Given the description of an element on the screen output the (x, y) to click on. 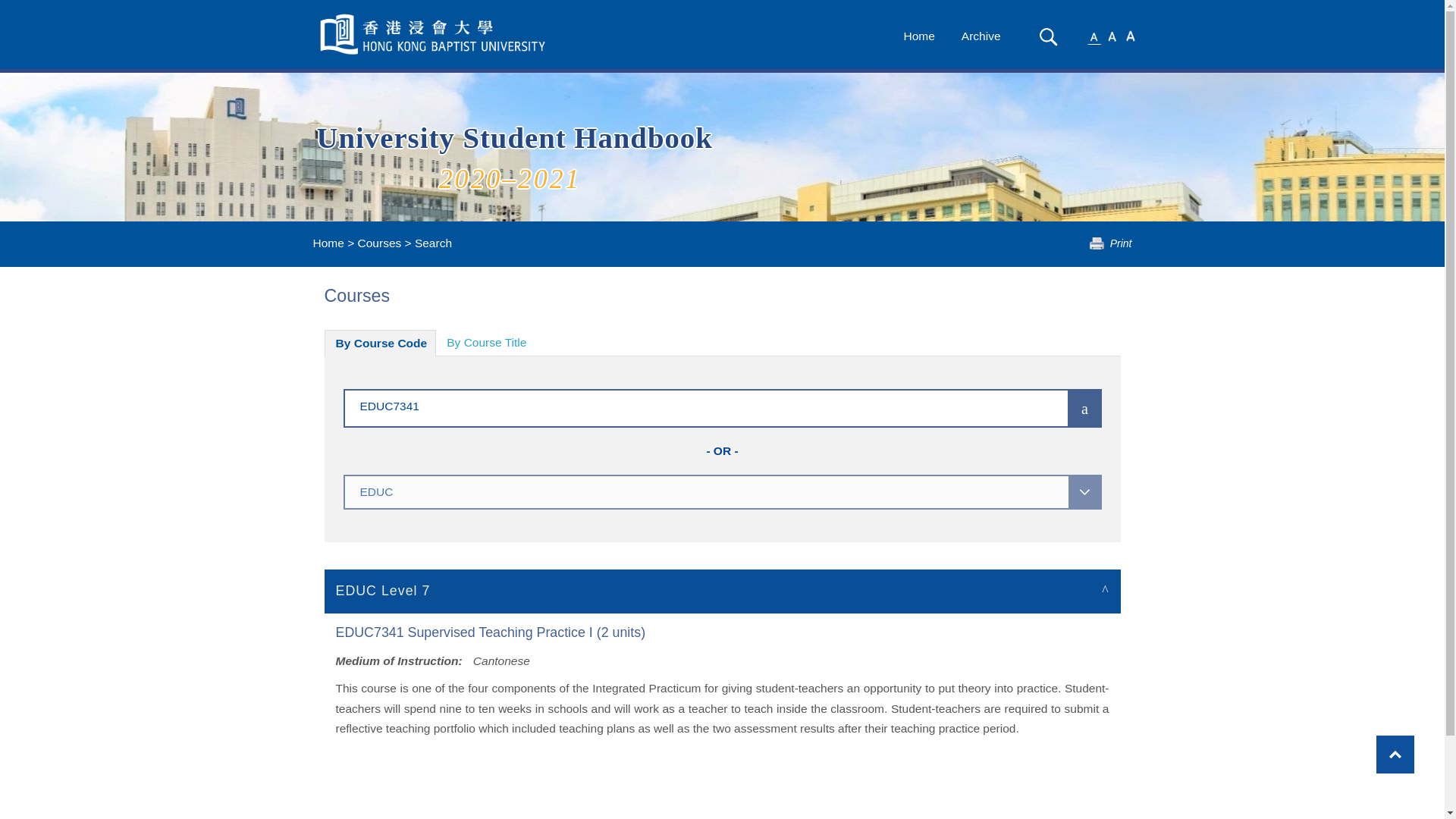
selected (434, 34)
Scroll To Top (1394, 754)
EDUC7341 (683, 404)
Archive (981, 36)
Home (918, 36)
Search (1048, 36)
EDUC Level 7 (722, 590)
Scroll To Top (1394, 754)
Home (328, 242)
Search (1048, 36)
Print (1110, 243)
Scroll To Top (1394, 754)
By Course Title (486, 342)
HKBU Student Handbook (434, 34)
By Course Code (381, 343)
